Given the description of an element on the screen output the (x, y) to click on. 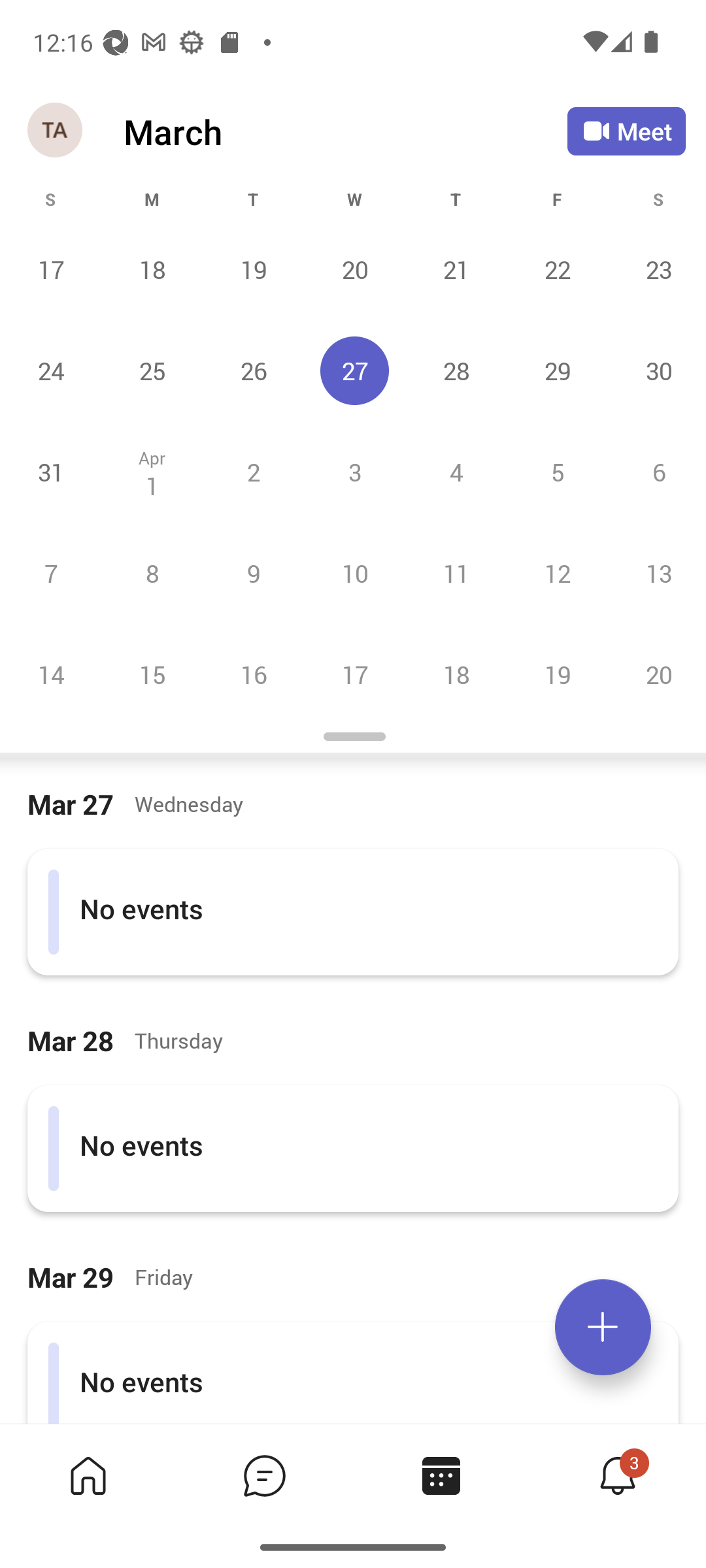
Navigation (56, 130)
Meet Meet now or join with an ID (626, 130)
March March Calendar Agenda View (345, 131)
Sunday, March 17 17 (50, 269)
Monday, March 18 18 (151, 269)
Tuesday, March 19 19 (253, 269)
Wednesday, March 20 20 (354, 269)
Thursday, March 21 21 (455, 269)
Friday, March 22 22 (556, 269)
Saturday, March 23 23 (656, 269)
Sunday, March 24 24 (50, 370)
Monday, March 25 25 (151, 370)
Tuesday, March 26 26 (253, 370)
Wednesday, March 27, Selected 27 (354, 370)
Thursday, March 28 28 (455, 370)
Friday, March 29 29 (556, 370)
Saturday, March 30 30 (656, 370)
Sunday, March 31 31 (50, 471)
Monday, April 1 Apr 1 (151, 471)
Tuesday, April 2 2 (253, 471)
Wednesday, April 3 3 (354, 471)
Thursday, April 4 4 (455, 471)
Friday, April 5 5 (556, 471)
Saturday, April 6 6 (656, 471)
Sunday, April 7 7 (50, 573)
Monday, April 8 8 (151, 573)
Tuesday, April 9 9 (253, 573)
Wednesday, April 10 10 (354, 573)
Thursday, April 11 11 (455, 573)
Friday, April 12 12 (556, 573)
Saturday, April 13 13 (656, 573)
Sunday, April 14 14 (50, 674)
Monday, April 15 15 (151, 674)
Tuesday, April 16 16 (253, 674)
Wednesday, April 17 17 (354, 674)
Thursday, April 18 18 (455, 674)
Friday, April 19 19 (556, 674)
Saturday, April 20 20 (656, 674)
Expand meetings menu (602, 1327)
Home tab,1 of 4, not selected (88, 1475)
Chat tab,2 of 4, not selected (264, 1475)
Calendar tab, 3 of 4 (441, 1475)
Activity tab,4 of 4, not selected, 3 new 3 (617, 1475)
